Given the description of an element on the screen output the (x, y) to click on. 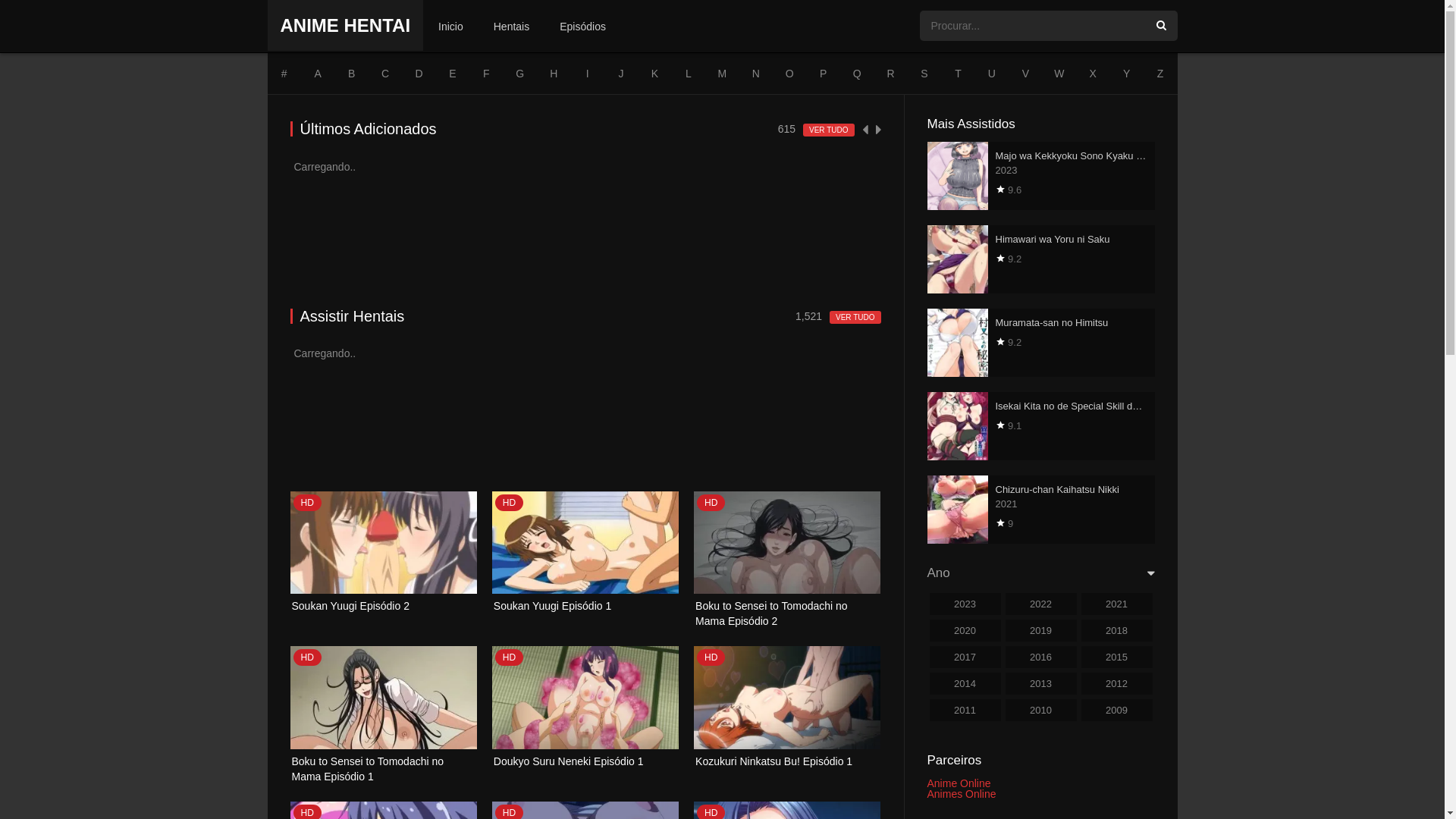
Inicio Element type: text (450, 26)
2013 Element type: text (1040, 683)
P Element type: text (823, 73)
Z Element type: text (1159, 73)
M Element type: text (721, 73)
2009 Element type: text (1116, 710)
2020 Element type: text (965, 630)
C Element type: text (384, 73)
T Element type: text (957, 73)
# Element type: text (283, 73)
2014 Element type: text (965, 683)
Y Element type: text (1125, 73)
VER TUDO Element type: text (828, 129)
L Element type: text (688, 73)
W Element type: text (1059, 73)
G Element type: text (519, 73)
2023 Element type: text (965, 604)
Animes Online Element type: text (960, 793)
V Element type: text (1024, 73)
B Element type: text (350, 73)
2017 Element type: text (965, 657)
Anime Online Element type: text (958, 783)
VER TUDO Element type: text (855, 316)
2012 Element type: text (1116, 683)
F Element type: text (485, 73)
E Element type: text (452, 73)
D Element type: text (418, 73)
2016 Element type: text (1040, 657)
K Element type: text (654, 73)
X Element type: text (1092, 73)
2015 Element type: text (1116, 657)
2011 Element type: text (965, 710)
I Element type: text (586, 73)
N Element type: text (755, 73)
Q Element type: text (856, 73)
U Element type: text (991, 73)
2019 Element type: text (1040, 630)
2010 Element type: text (1040, 710)
2022 Element type: text (1040, 604)
ANIME HENTAI Element type: text (345, 25)
S Element type: text (924, 73)
H Element type: text (553, 73)
2021 Element type: text (1116, 604)
Hentais Element type: text (511, 26)
A Element type: text (317, 73)
R Element type: text (889, 73)
2018 Element type: text (1116, 630)
J Element type: text (620, 73)
O Element type: text (789, 73)
